Given the description of an element on the screen output the (x, y) to click on. 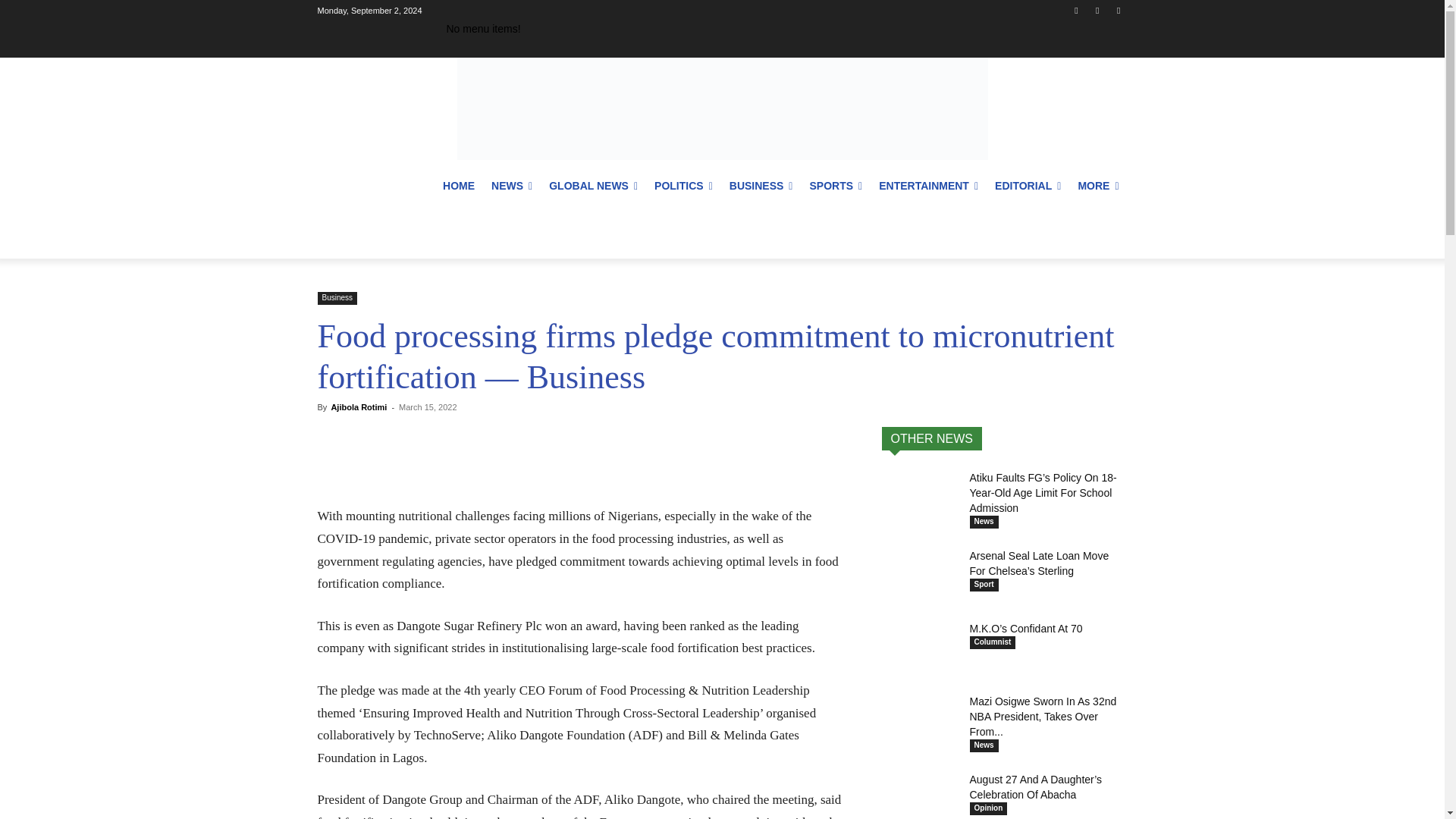
HOME (458, 185)
Facebook (1075, 9)
Twitter (1117, 9)
NEWS (511, 185)
Instagram (1097, 9)
